Given the description of an element on the screen output the (x, y) to click on. 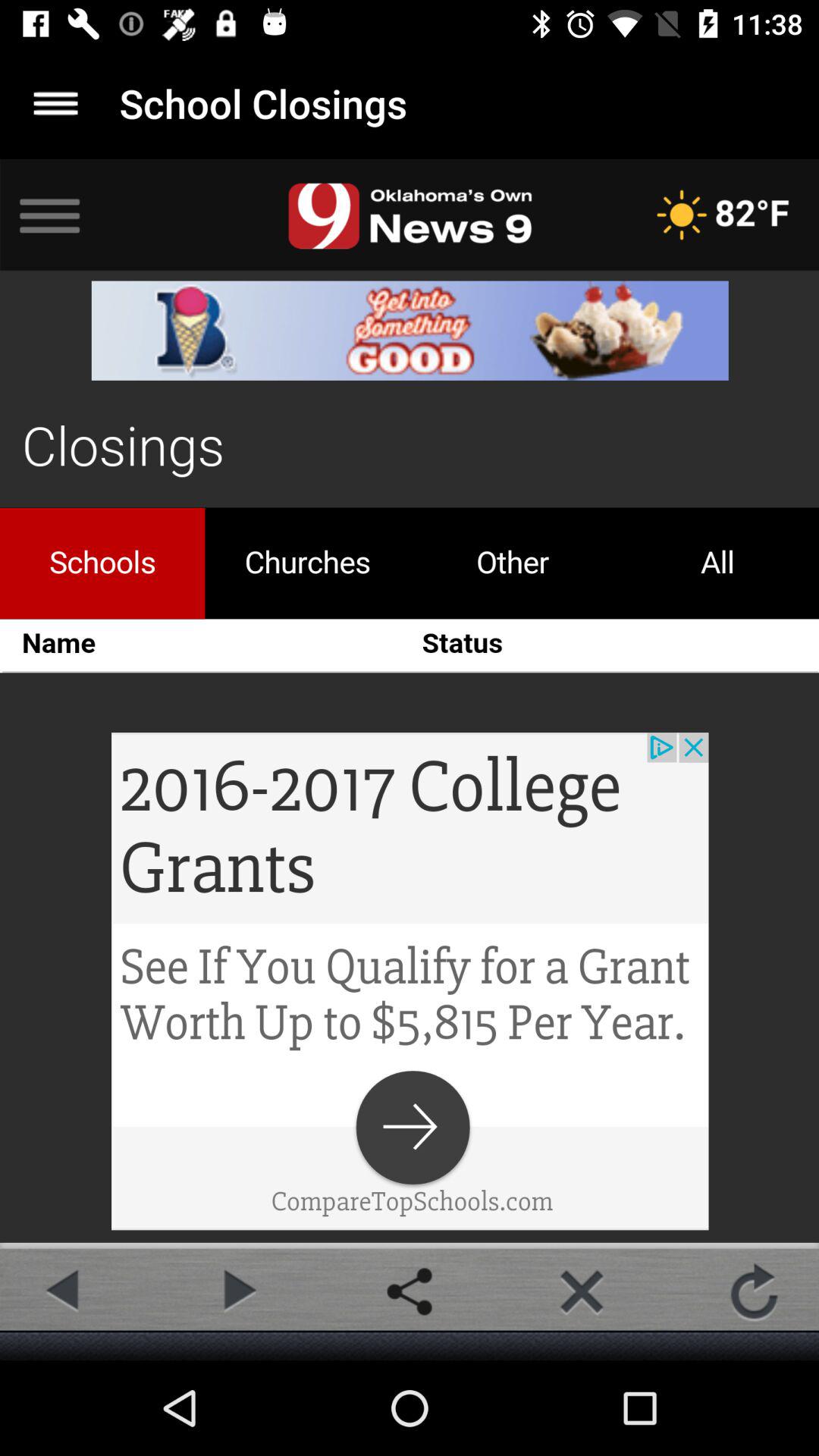
go previous (64, 1291)
